Given the description of an element on the screen output the (x, y) to click on. 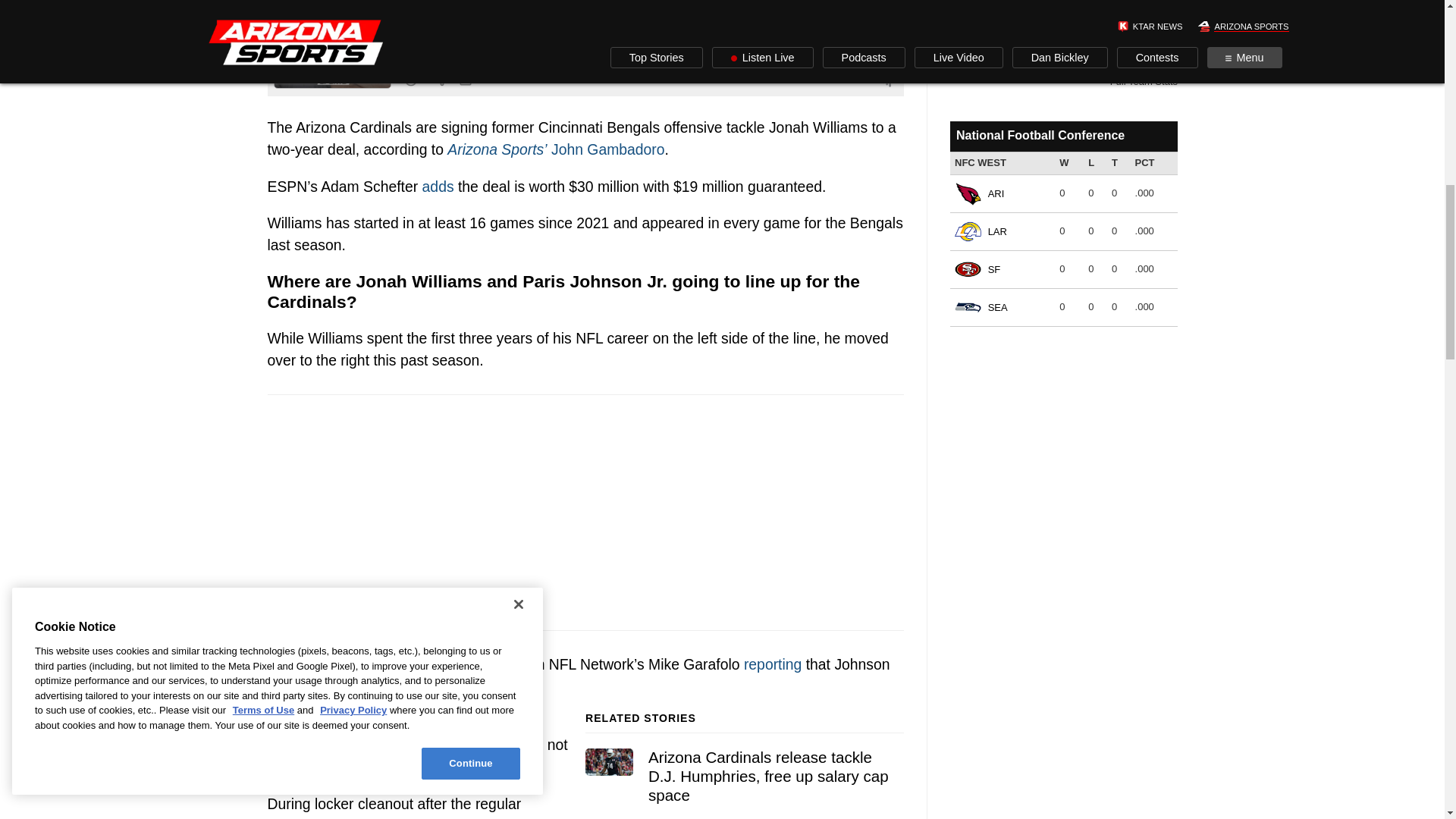
3rd party ad content (584, 512)
widget (1062, 223)
widget (1062, 47)
